Given the description of an element on the screen output the (x, y) to click on. 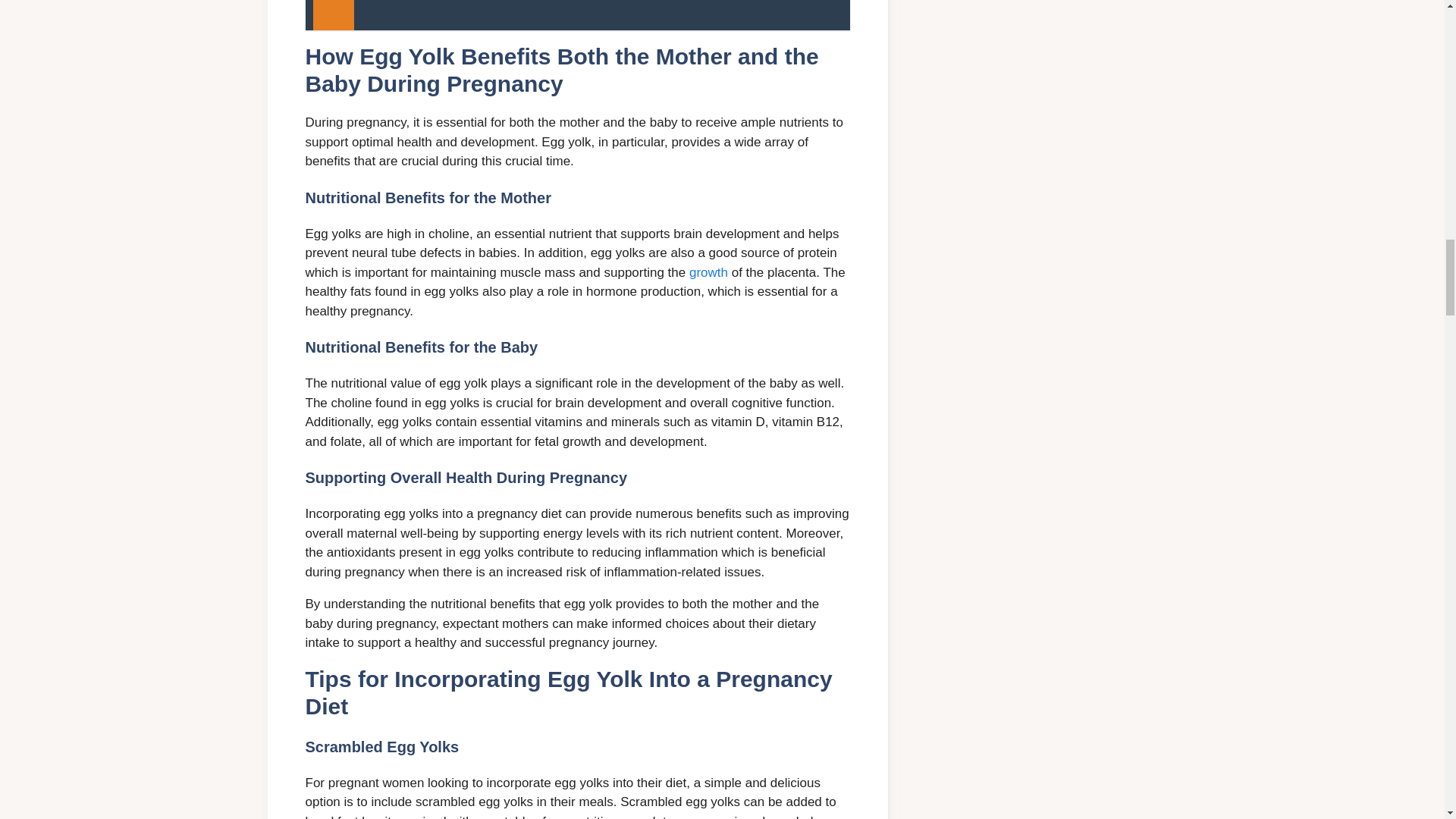
growth (708, 272)
